Given the description of an element on the screen output the (x, y) to click on. 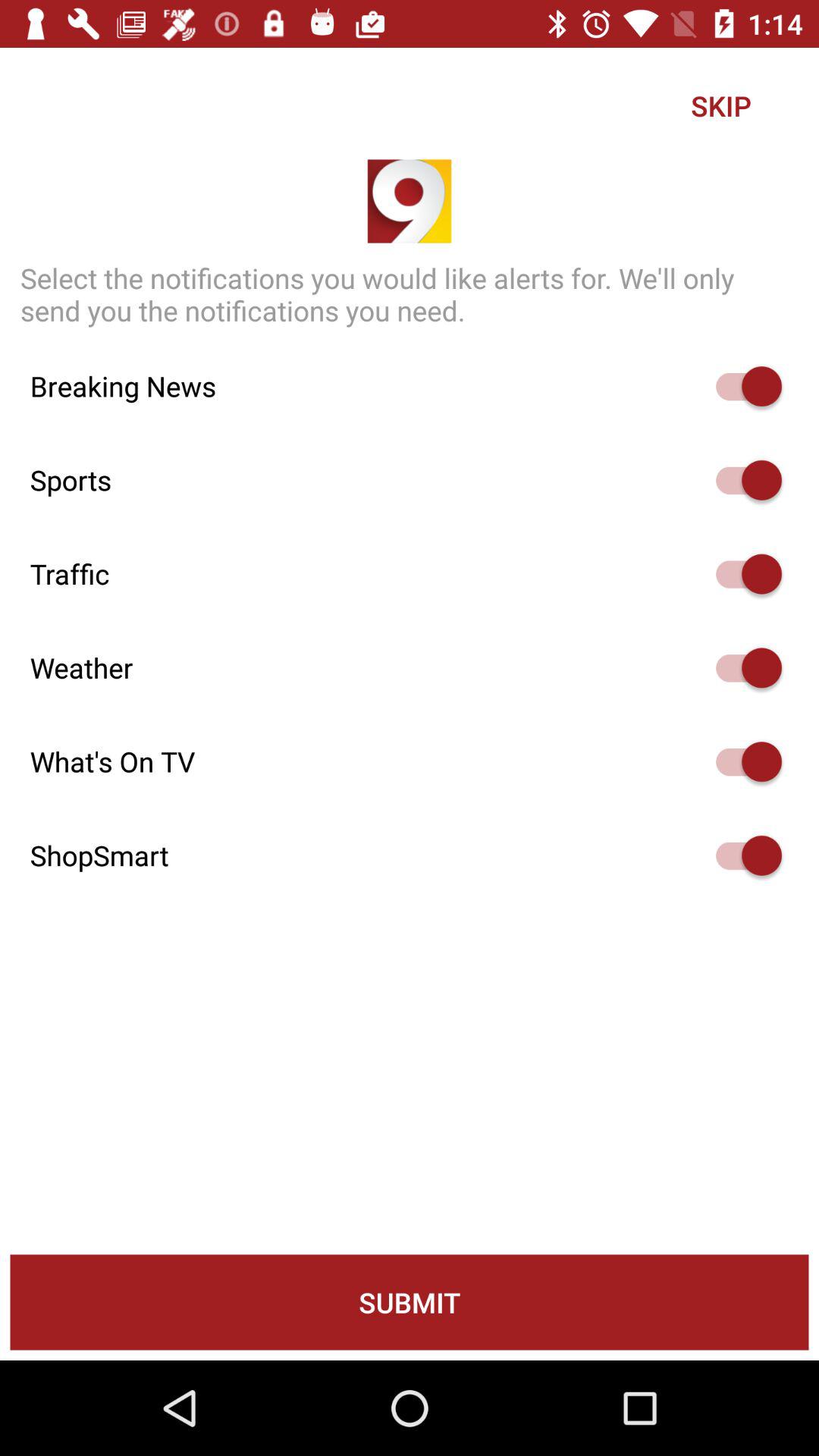
on off (741, 386)
